Given the description of an element on the screen output the (x, y) to click on. 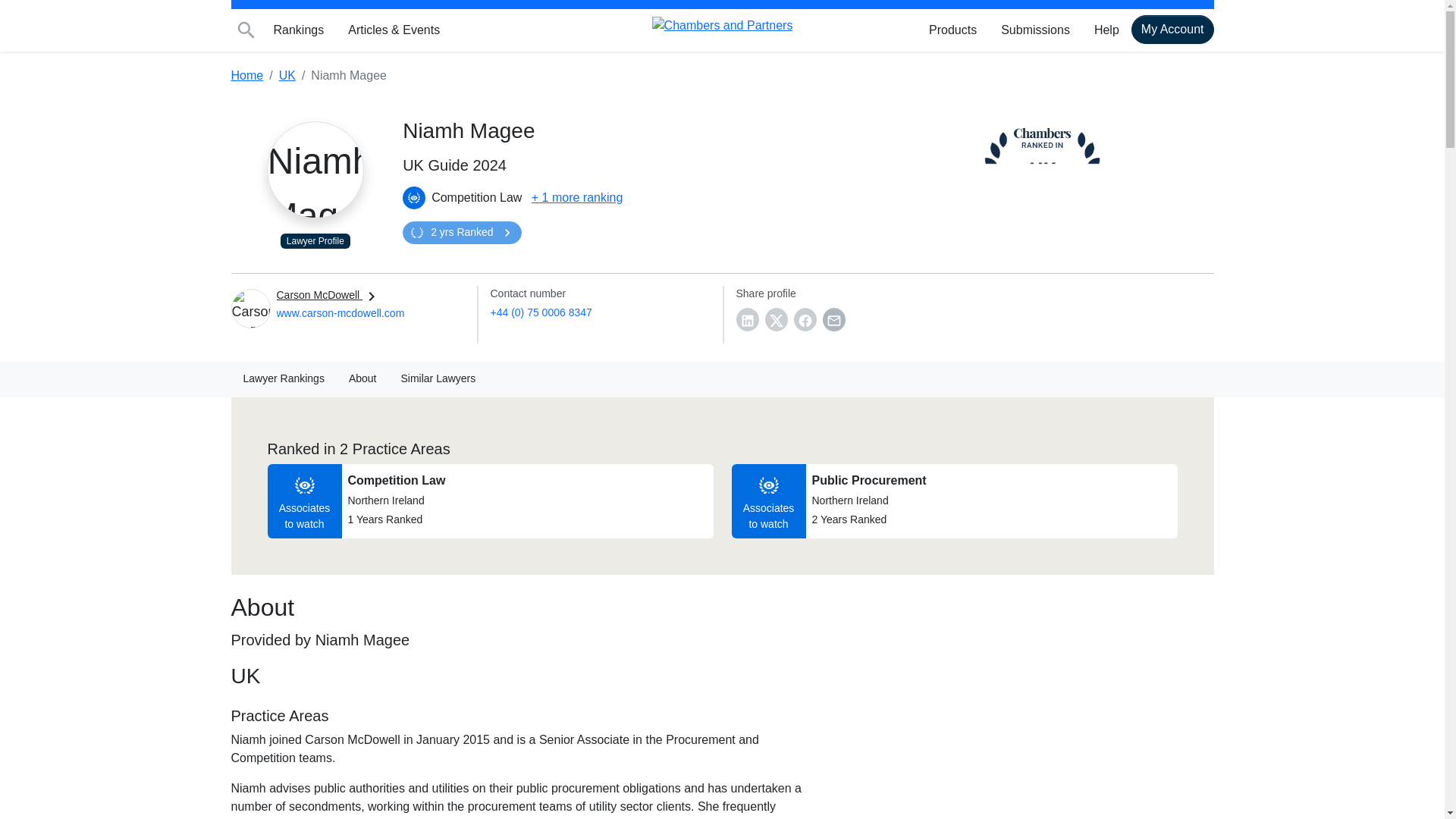
Products (952, 30)
Go to Similar Lawyers section (437, 379)
Go to About section (362, 379)
Share this on LinkedIn (746, 319)
View ranking history (462, 232)
Call Niamh Magee (540, 312)
Go to Carson McDowell's page (340, 313)
Associate to watch (414, 197)
Share this on X (775, 319)
Associate to watch (769, 485)
